Given the description of an element on the screen output the (x, y) to click on. 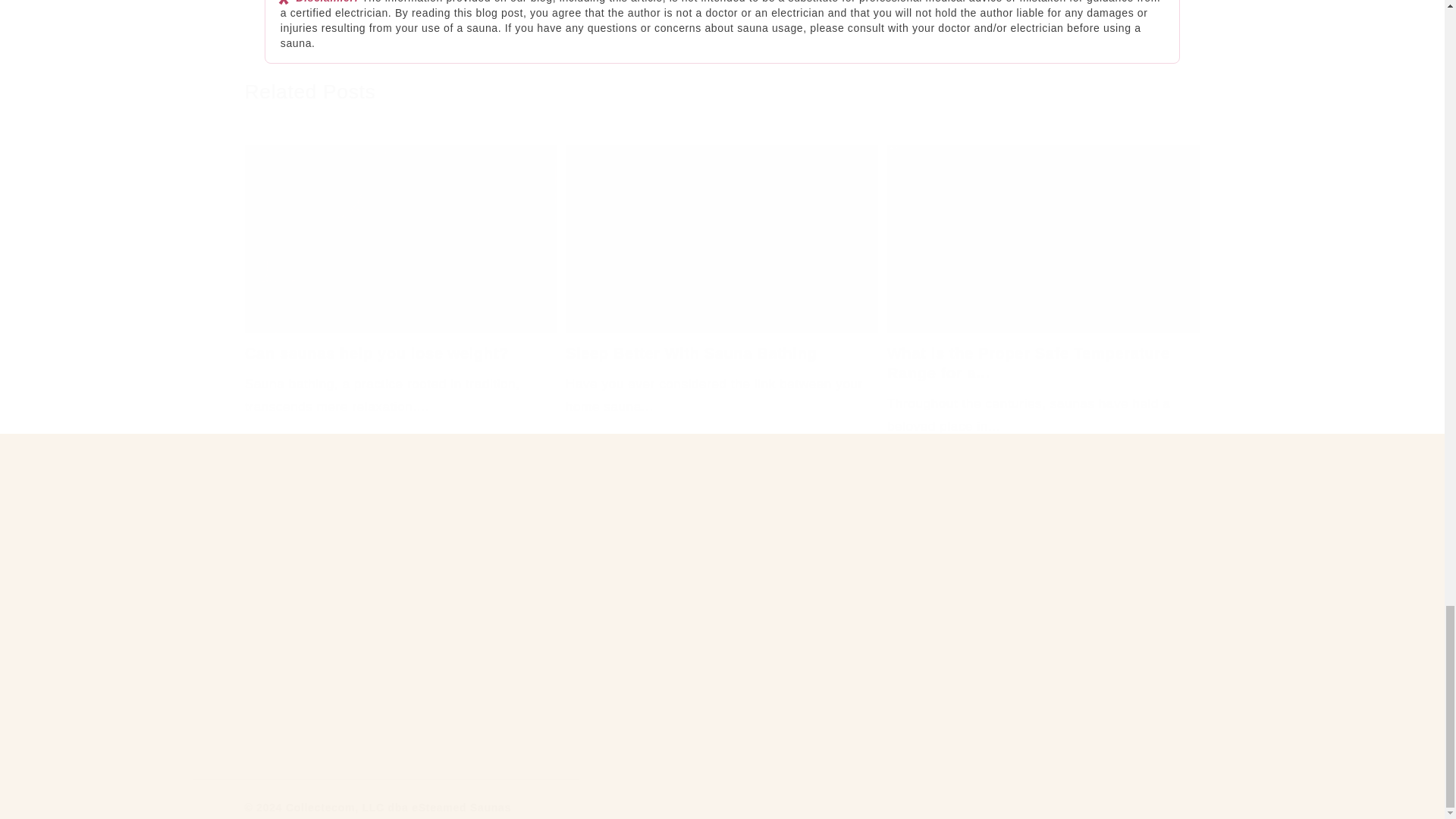
Related Posts (309, 92)
